Given the description of an element on the screen output the (x, y) to click on. 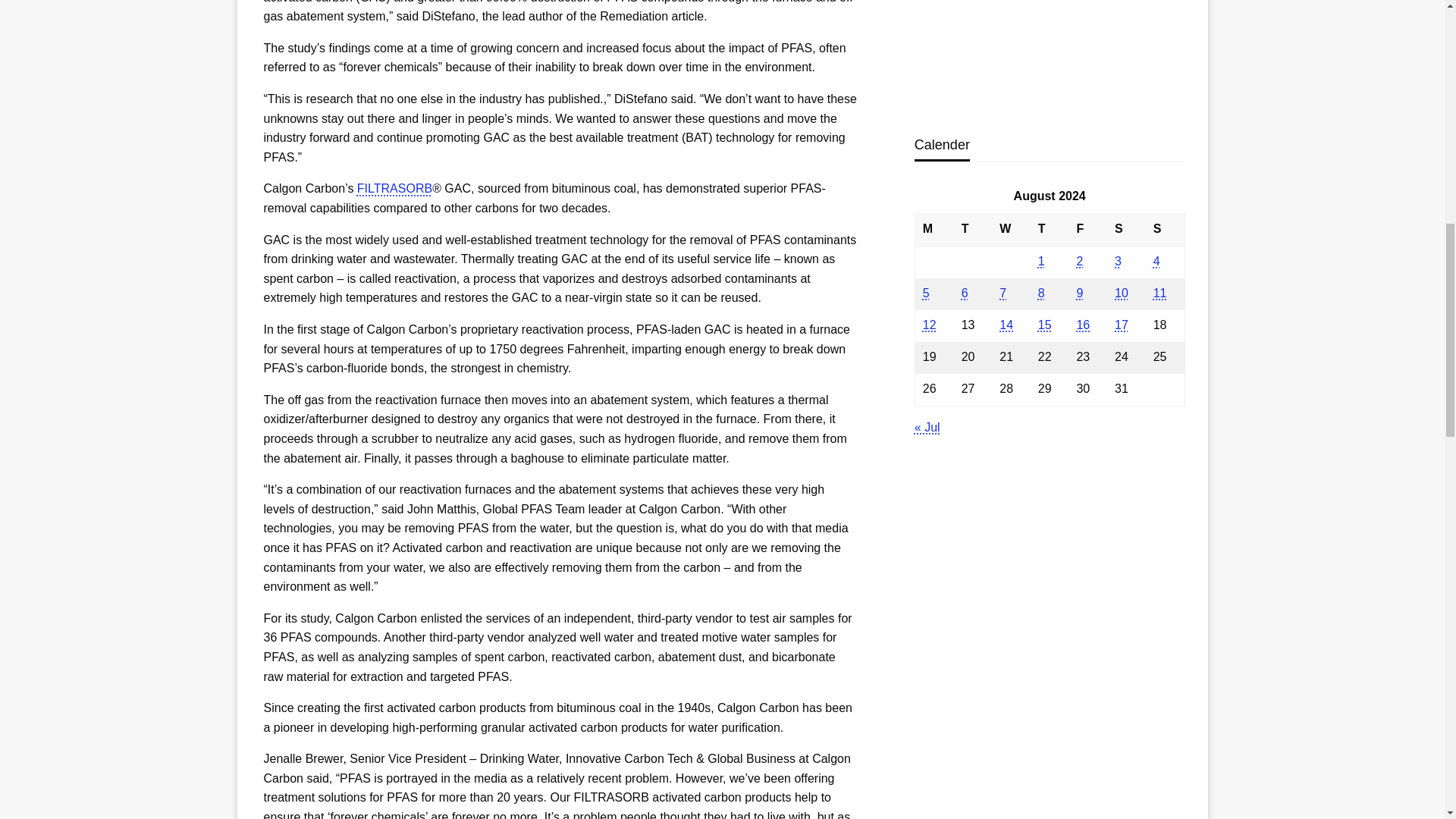
Thursday (1049, 228)
Sunday (1165, 228)
Tuesday (972, 228)
Wednesday (1010, 228)
Monday (933, 228)
FILTRASORB (394, 187)
Saturday (1125, 228)
Advertisement (1046, 55)
Friday (1087, 228)
